Given the description of an element on the screen output the (x, y) to click on. 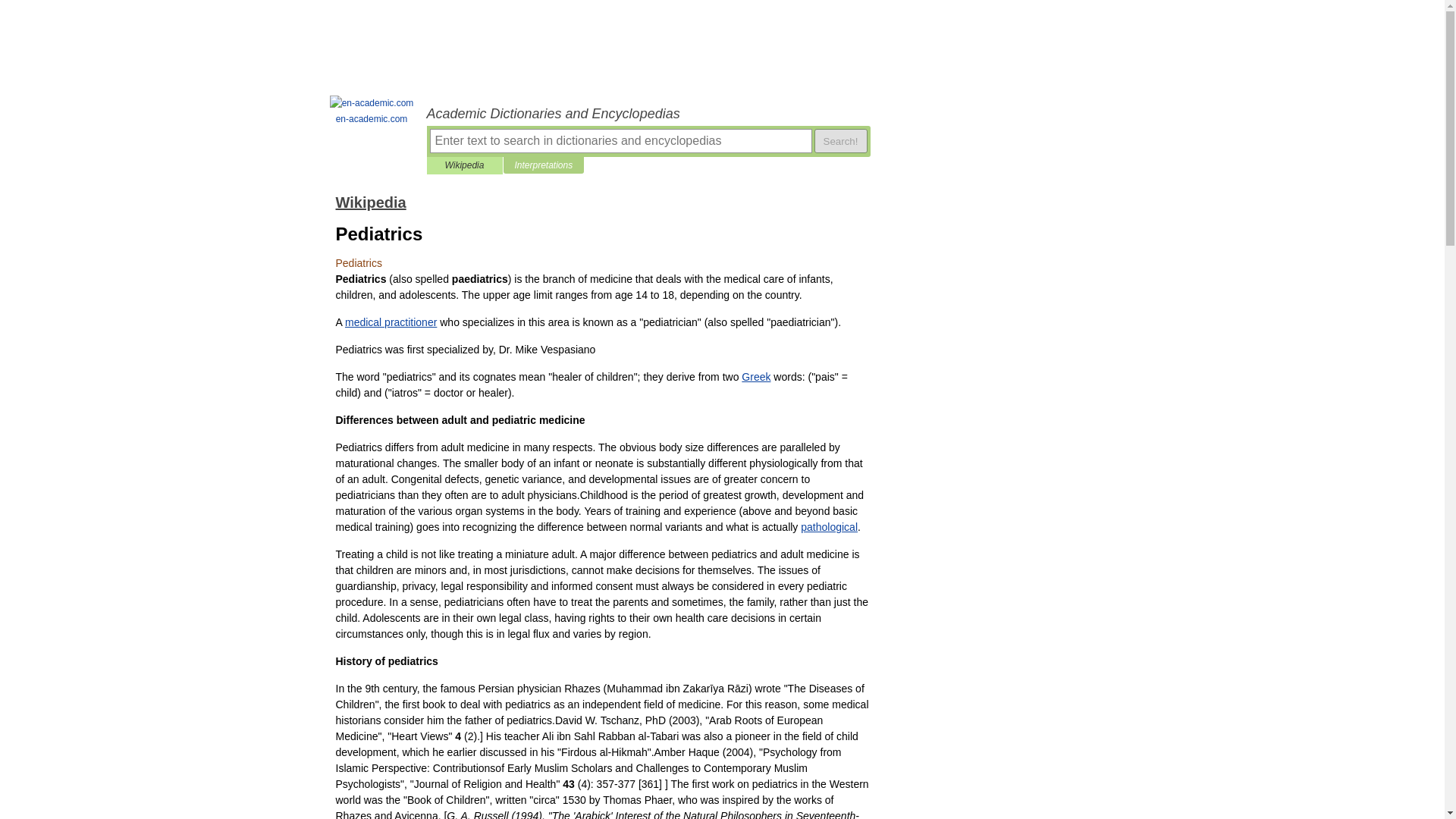
Wikipedia (370, 202)
Greek (755, 377)
Interpretations (542, 165)
medical practitioner (390, 322)
pathological (828, 526)
Academic Dictionaries and Encyclopedias (647, 114)
Enter text to search in dictionaries and encyclopedias (619, 140)
Search! (840, 140)
en-academic.com (371, 111)
Wikipedia (465, 165)
